Given the description of an element on the screen output the (x, y) to click on. 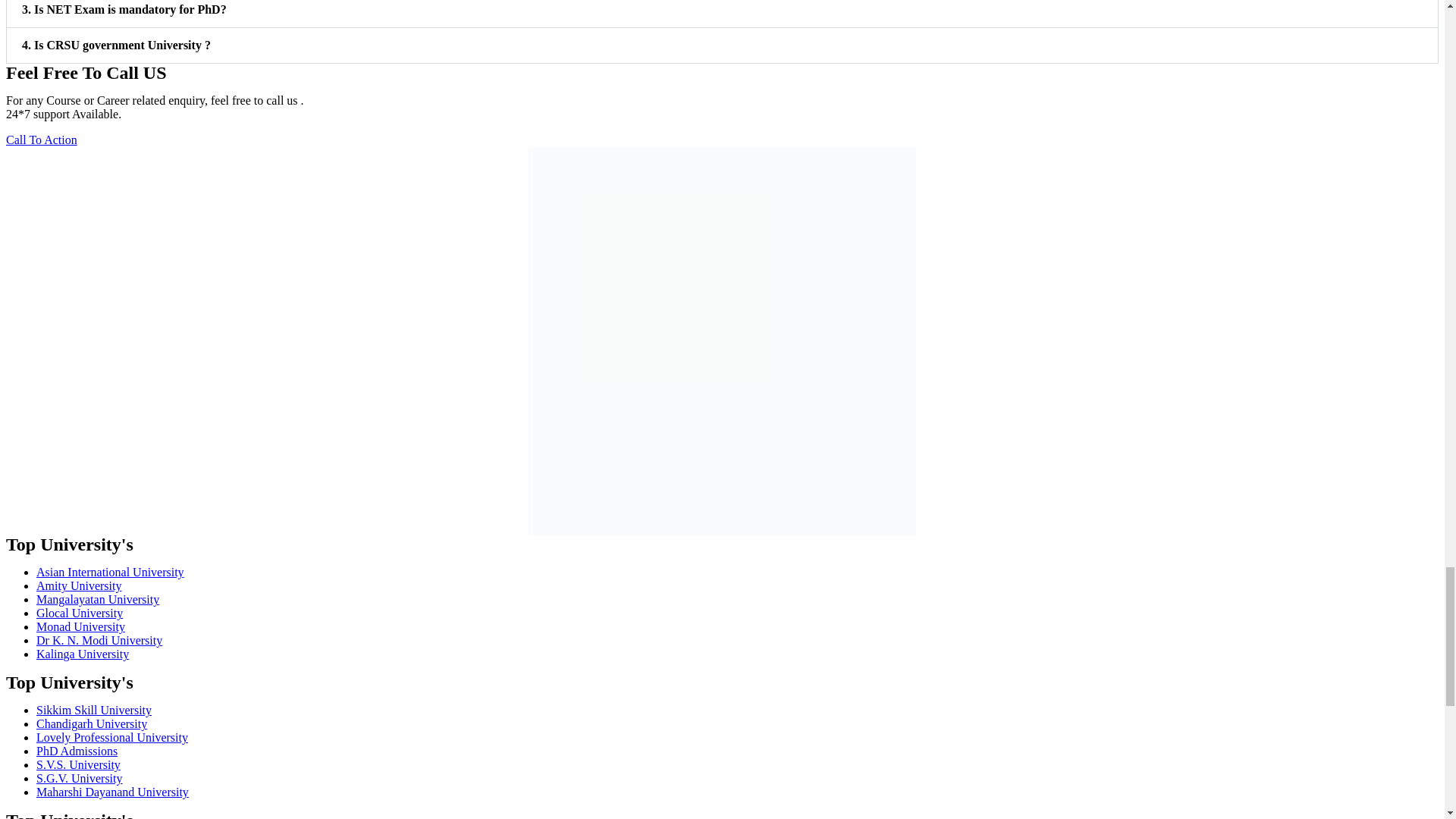
4. Is CRSU government University ? (116, 44)
Amity University (78, 585)
Glocal University (79, 612)
Dr K. N. Modi University (98, 640)
Mangalayatan University (97, 599)
Asian International University (110, 571)
Monad University (80, 626)
3. Is NET Exam is mandatory for PhD? (124, 9)
Call To Action (41, 139)
